Given the description of an element on the screen output the (x, y) to click on. 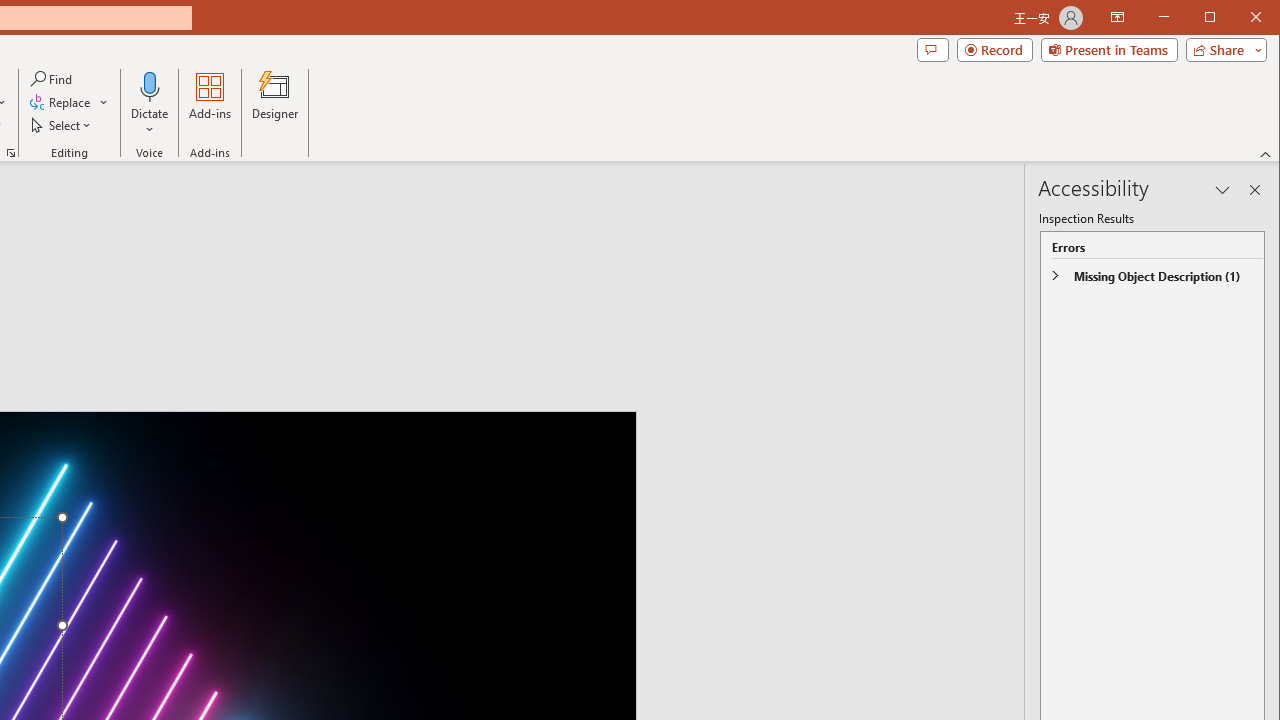
Dictate (150, 104)
Find... (52, 78)
Replace... (69, 101)
Maximize (1238, 18)
Replace... (61, 101)
Select (62, 124)
Format Object... (10, 152)
